Given the description of an element on the screen output the (x, y) to click on. 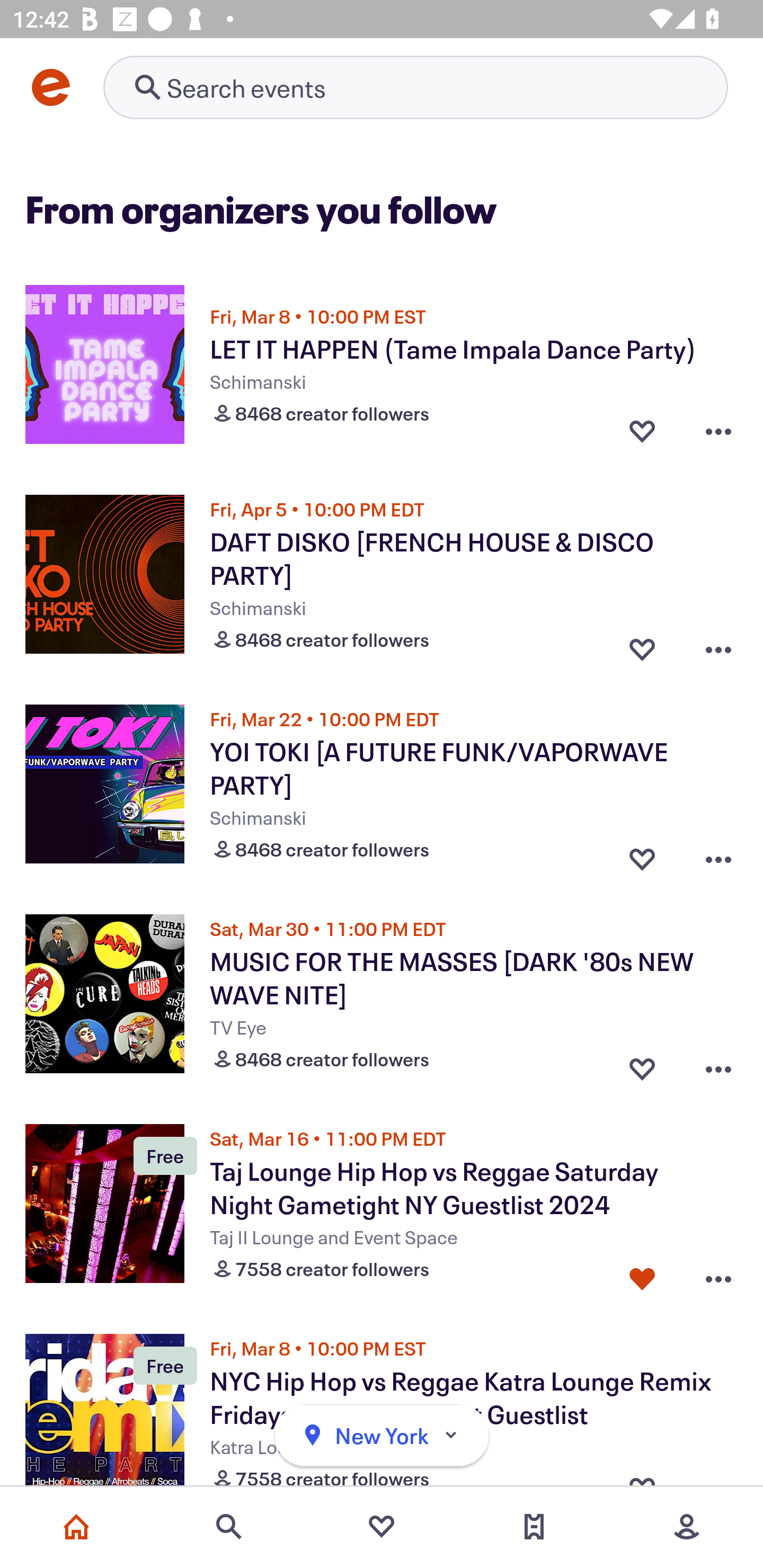
Retry's image Search events (415, 86)
Favorite button (642, 430)
Overflow menu button (718, 430)
Favorite button (642, 644)
Overflow menu button (718, 644)
Favorite button (642, 855)
Overflow menu button (718, 855)
Favorite button (642, 1065)
Overflow menu button (718, 1065)
Favorite button (642, 1274)
Overflow menu button (718, 1274)
New York (381, 1435)
Home (76, 1526)
Search events (228, 1526)
Favorites (381, 1526)
Tickets (533, 1526)
More (686, 1526)
